Given the description of an element on the screen output the (x, y) to click on. 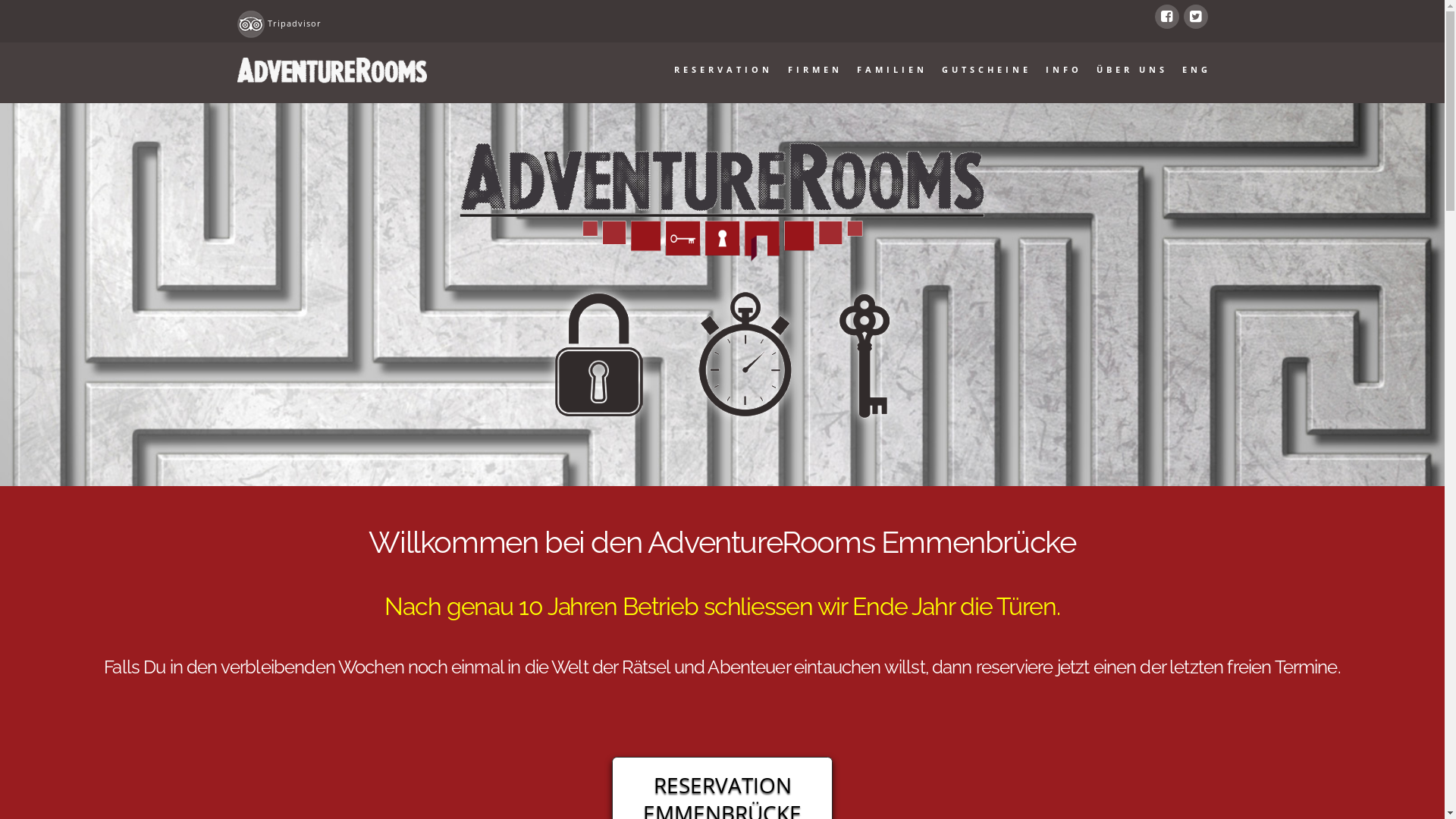
RESERVATION Element type: text (721, 72)
Facebook Element type: hover (1166, 16)
ENG Element type: text (1190, 72)
INFO Element type: text (1061, 72)
FAMILIEN Element type: text (889, 72)
Twitter Element type: hover (1195, 16)
GUTSCHEINE Element type: text (984, 72)
FIRMEN Element type: text (812, 72)
Tripadvisor Element type: text (293, 22)
